Given the description of an element on the screen output the (x, y) to click on. 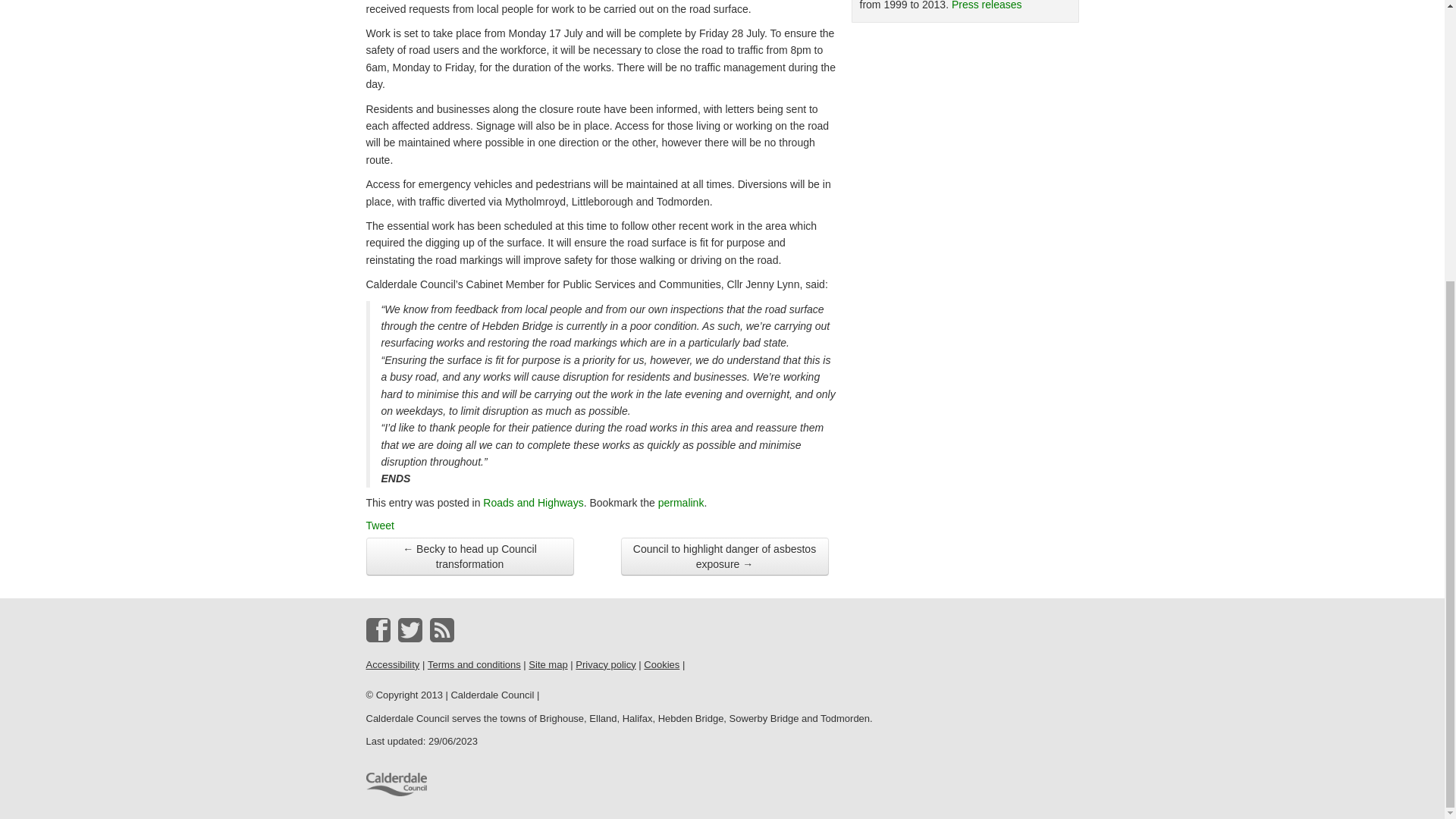
Permalink to Surface improvements in Hebden Bridge (681, 502)
Tweet (379, 525)
permalink (681, 502)
Terms and conditions (474, 664)
Accessibility (392, 664)
Roads and Highways (533, 502)
Twitter (409, 630)
Press releases (987, 5)
Facebook (377, 630)
Privacy policy (604, 664)
RSS (440, 630)
Site map (547, 664)
